Given the description of an element on the screen output the (x, y) to click on. 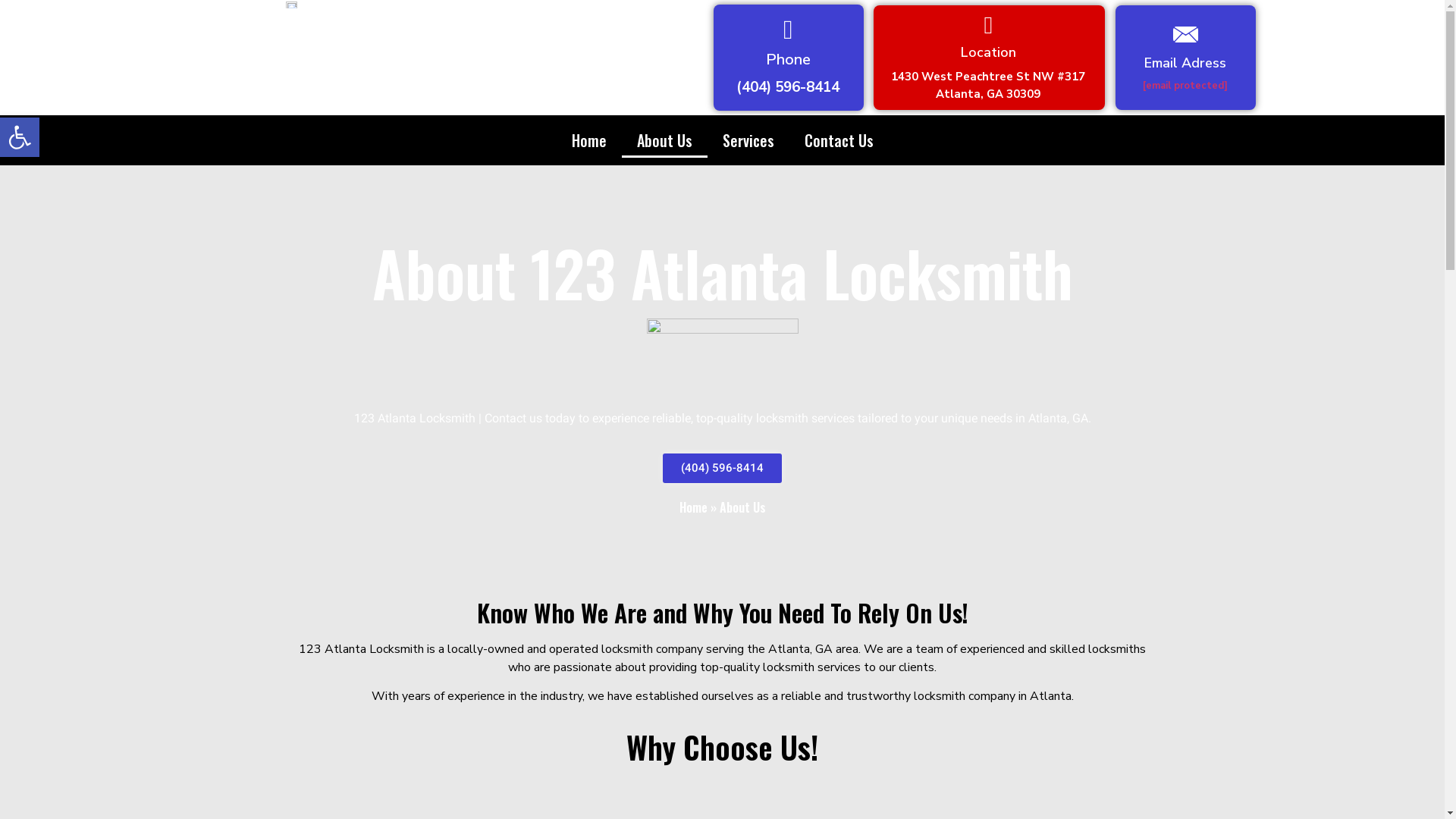
[email protected] Element type: text (1184, 85)
Open toolbar
Accessibility Tools Element type: text (19, 136)
Home Element type: text (693, 507)
Contact Us Element type: text (838, 139)
About Us Element type: text (664, 139)
Services Element type: text (747, 139)
Home Element type: text (588, 139)
(404) 596-8414 Element type: text (721, 468)
Phone Element type: text (787, 59)
